Given the description of an element on the screen output the (x, y) to click on. 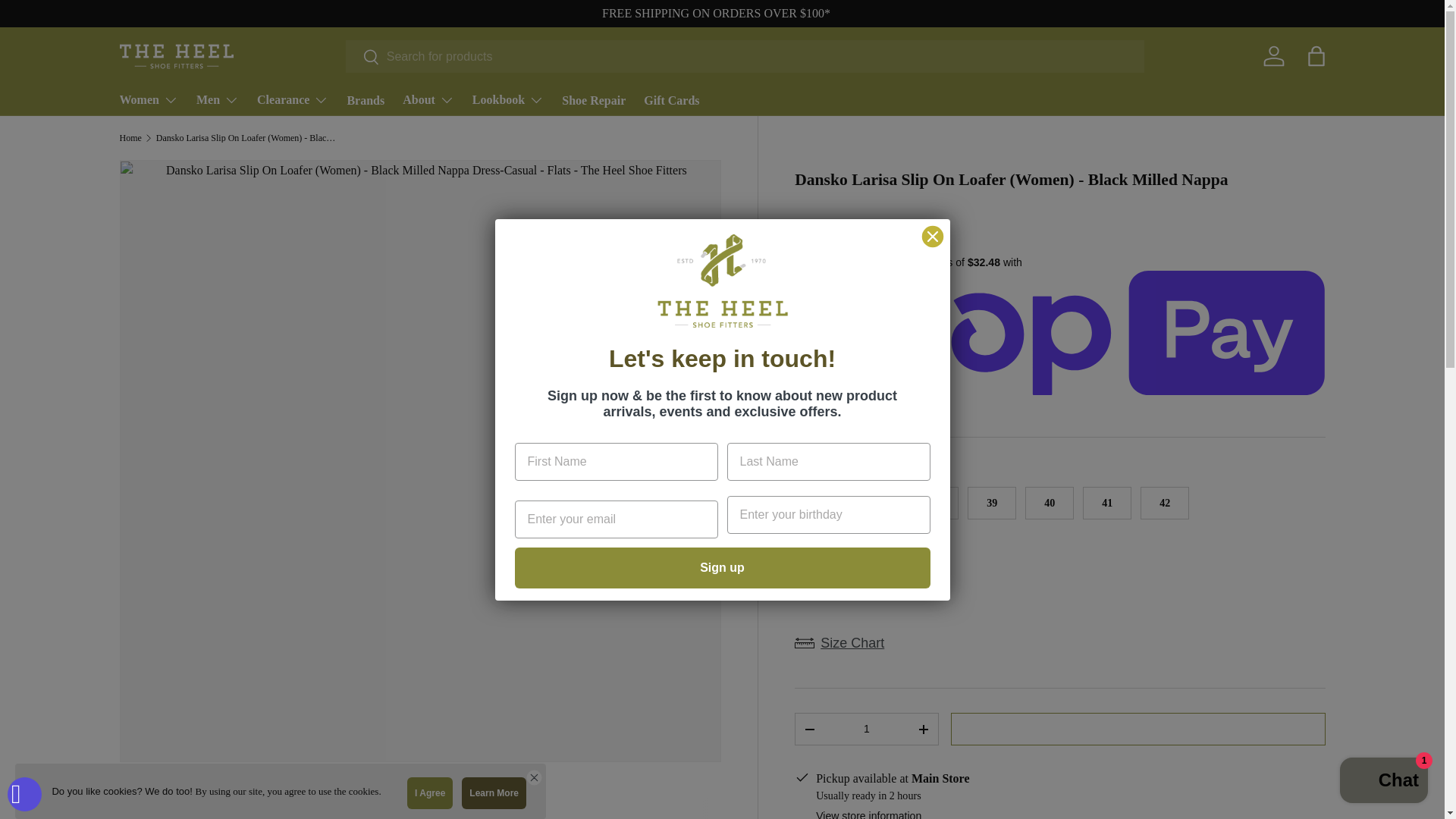
1 (866, 728)
SKIP TO CONTENT (68, 21)
Shopify online store chat (1383, 781)
Men (217, 100)
Shipping Policy (715, 12)
Description (420, 808)
Sold out (818, 502)
Bag (1316, 55)
